Given the description of an element on the screen output the (x, y) to click on. 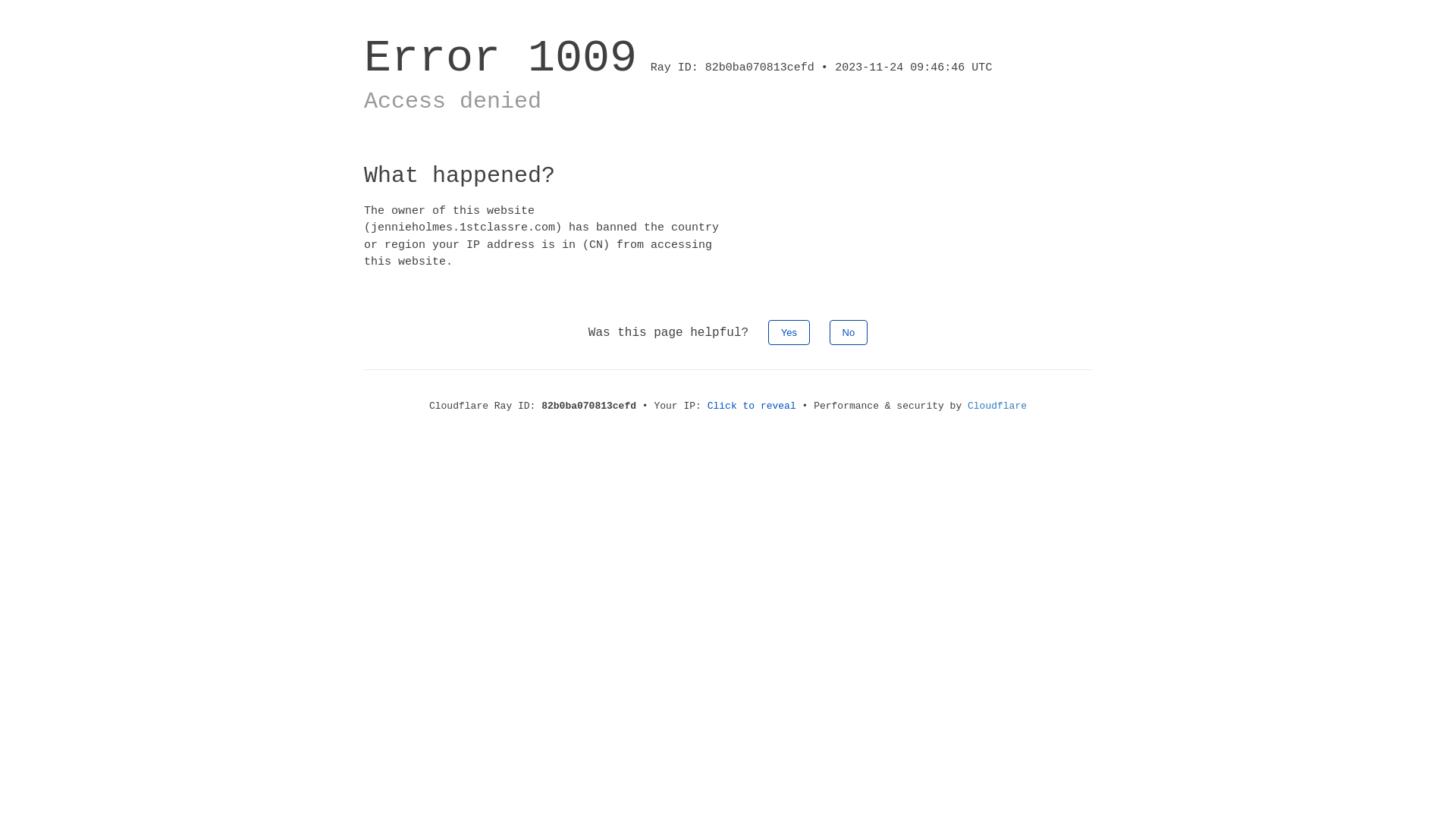
Click to reveal Element type: text (751, 405)
No Element type: text (848, 332)
Yes Element type: text (788, 332)
Cloudflare Element type: text (996, 405)
